Given the description of an element on the screen output the (x, y) to click on. 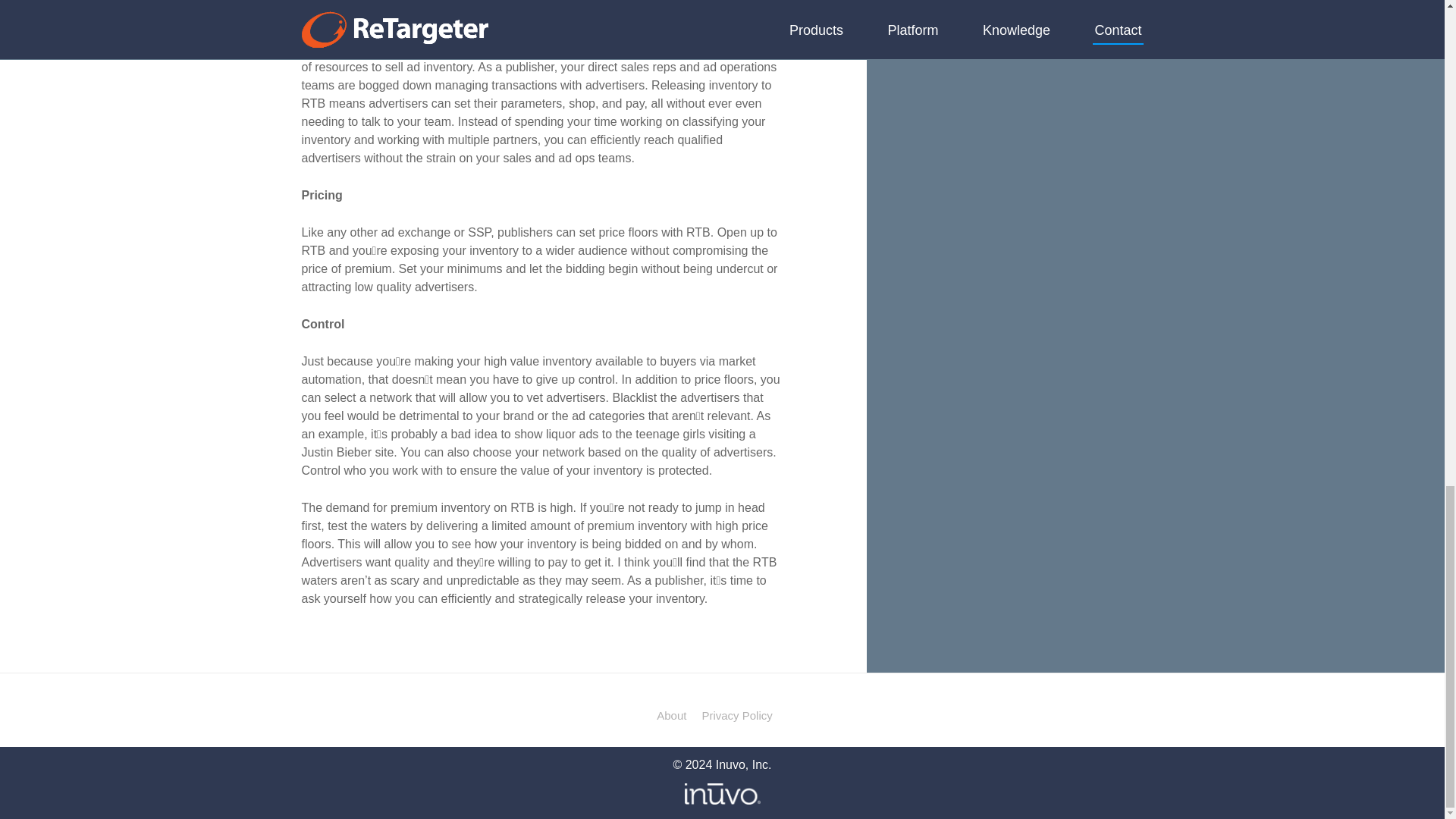
Privacy Policy (736, 715)
About (670, 715)
